Given the description of an element on the screen output the (x, y) to click on. 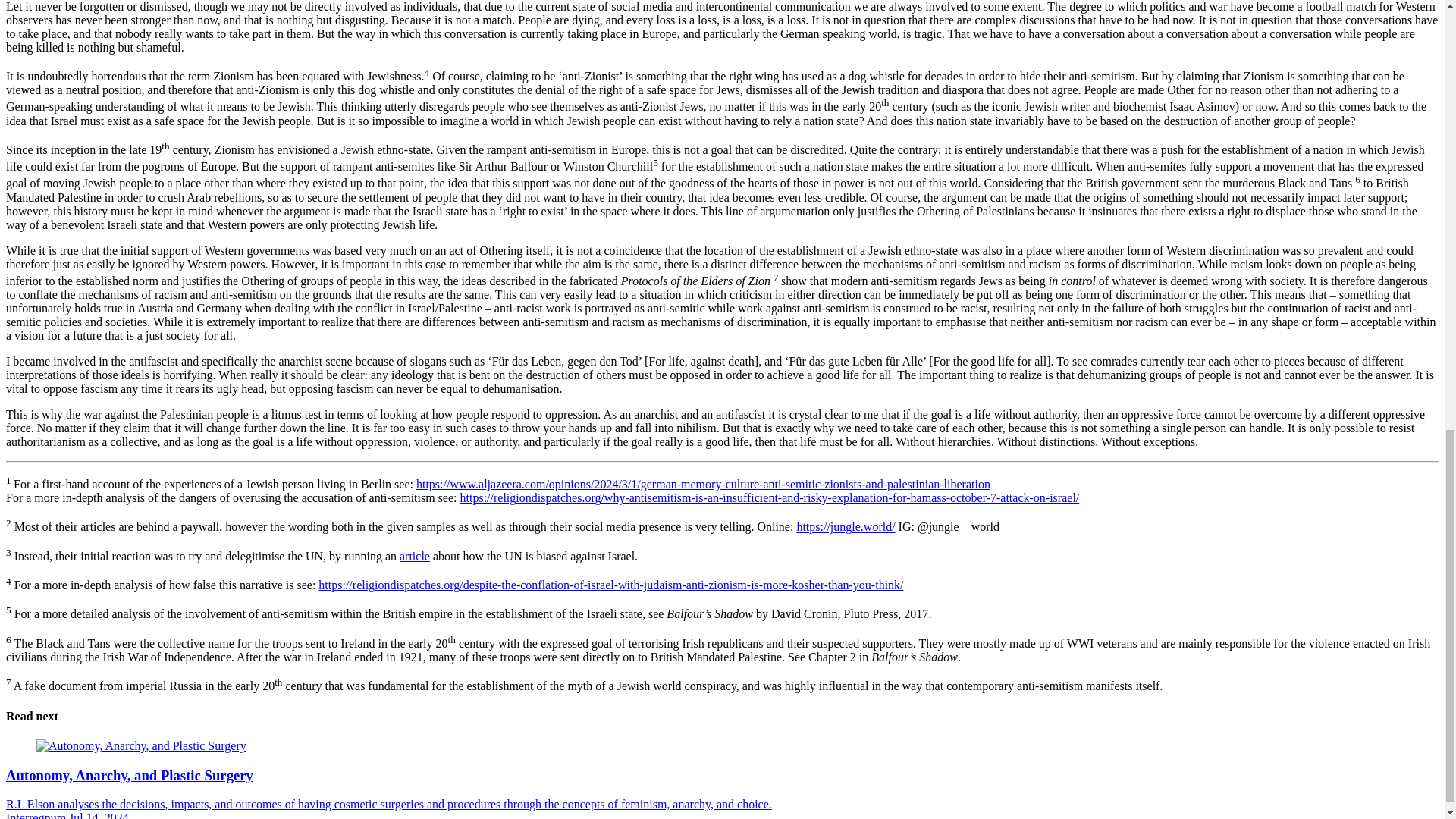
article (413, 555)
